Given the description of an element on the screen output the (x, y) to click on. 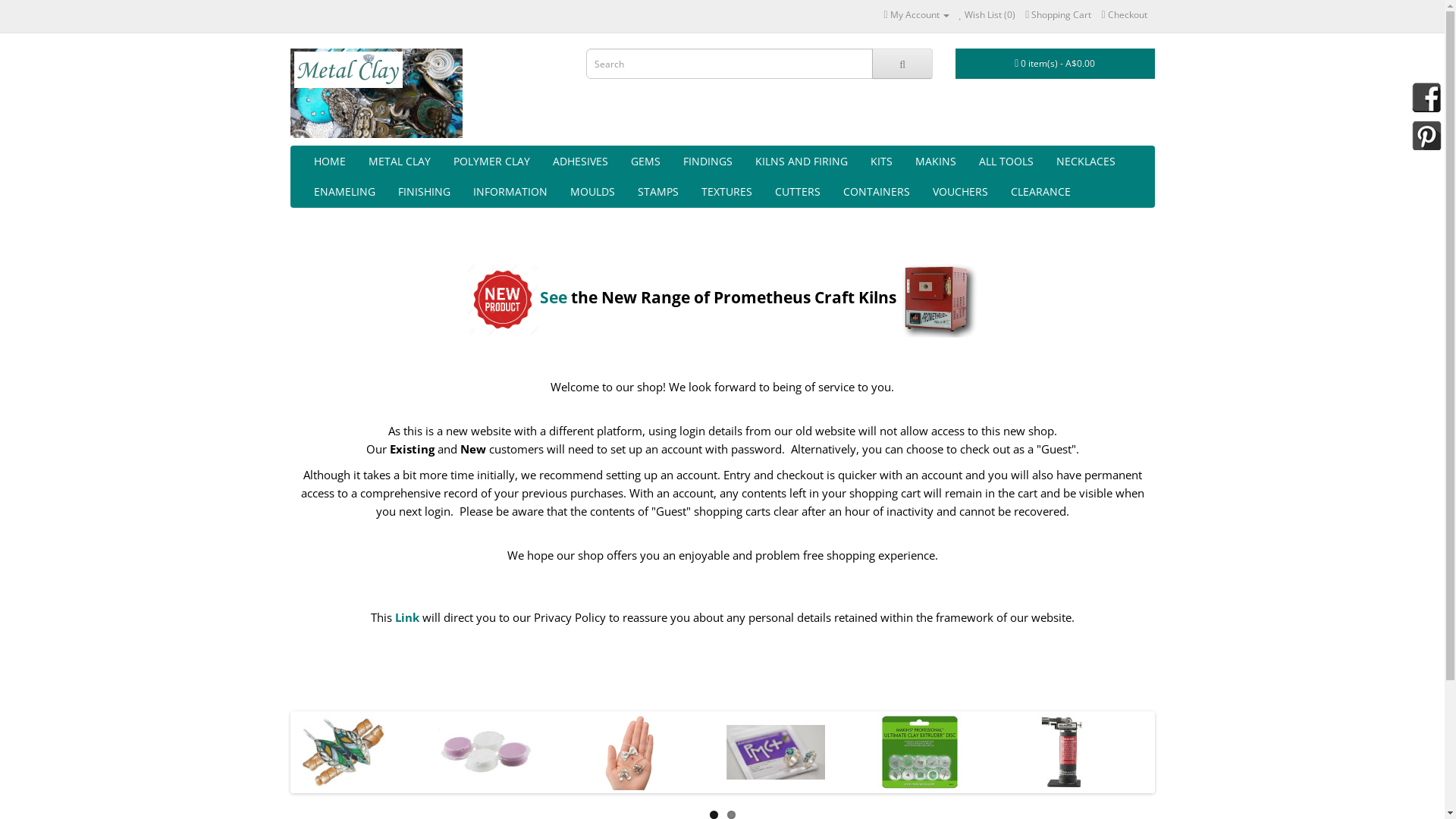
Metalclay Element type: hover (375, 93)
METAL CLAY Element type: text (398, 161)
My Account Element type: text (915, 14)
FINISHING Element type: text (423, 191)
ALL TOOLS Element type: text (1005, 161)
Checkout Element type: text (1123, 14)
CLEARANCE Element type: text (1040, 191)
GEMS Element type: text (644, 161)
STAMPS Element type: text (658, 191)
MOULDS Element type: text (591, 191)
See Element type: text (553, 296)
TEXTURES Element type: text (726, 191)
ADHESIVES Element type: text (580, 161)
NECKLACES Element type: text (1085, 161)
Shopping Cart Element type: text (1058, 14)
POLYMER CLAY Element type: text (490, 161)
CUTTERS Element type: text (796, 191)
Wish List (0) Element type: text (987, 14)
KILNS AND FIRING Element type: text (800, 161)
ENAMELING Element type: text (343, 191)
CONTAINERS Element type: text (875, 191)
Link Element type: text (406, 616)
MAKINS Element type: text (935, 161)
HOME Element type: text (328, 161)
VOUCHERS Element type: text (959, 191)
0 item(s) - A$0.00 Element type: text (1054, 63)
FINDINGS Element type: text (707, 161)
INFORMATION Element type: text (509, 191)
KITS Element type: text (880, 161)
